Given the description of an element on the screen output the (x, y) to click on. 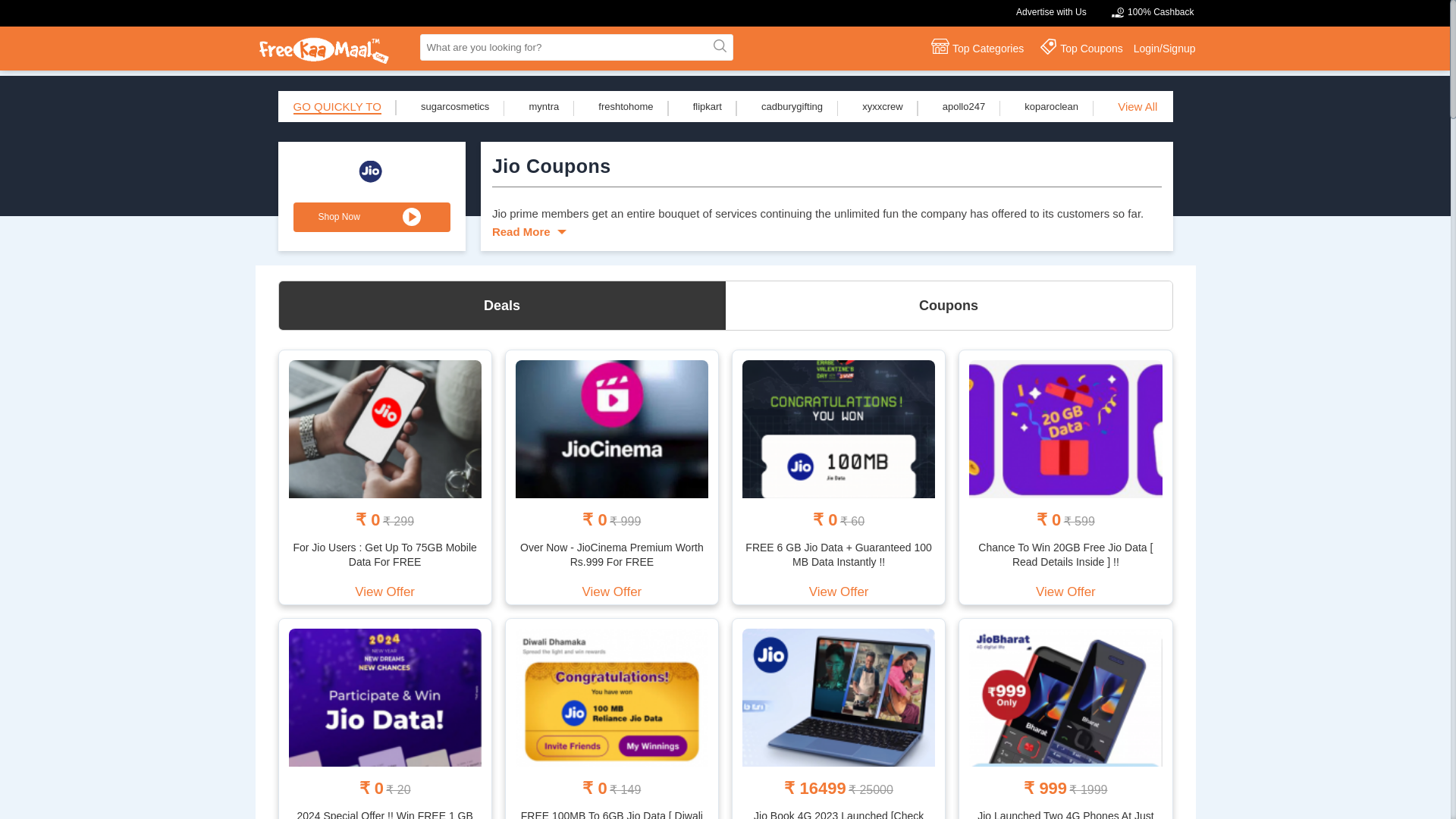
Top Categories (974, 46)
search (718, 46)
Top Coupons (1077, 46)
Advertise with Us (1051, 11)
